Given the description of an element on the screen output the (x, y) to click on. 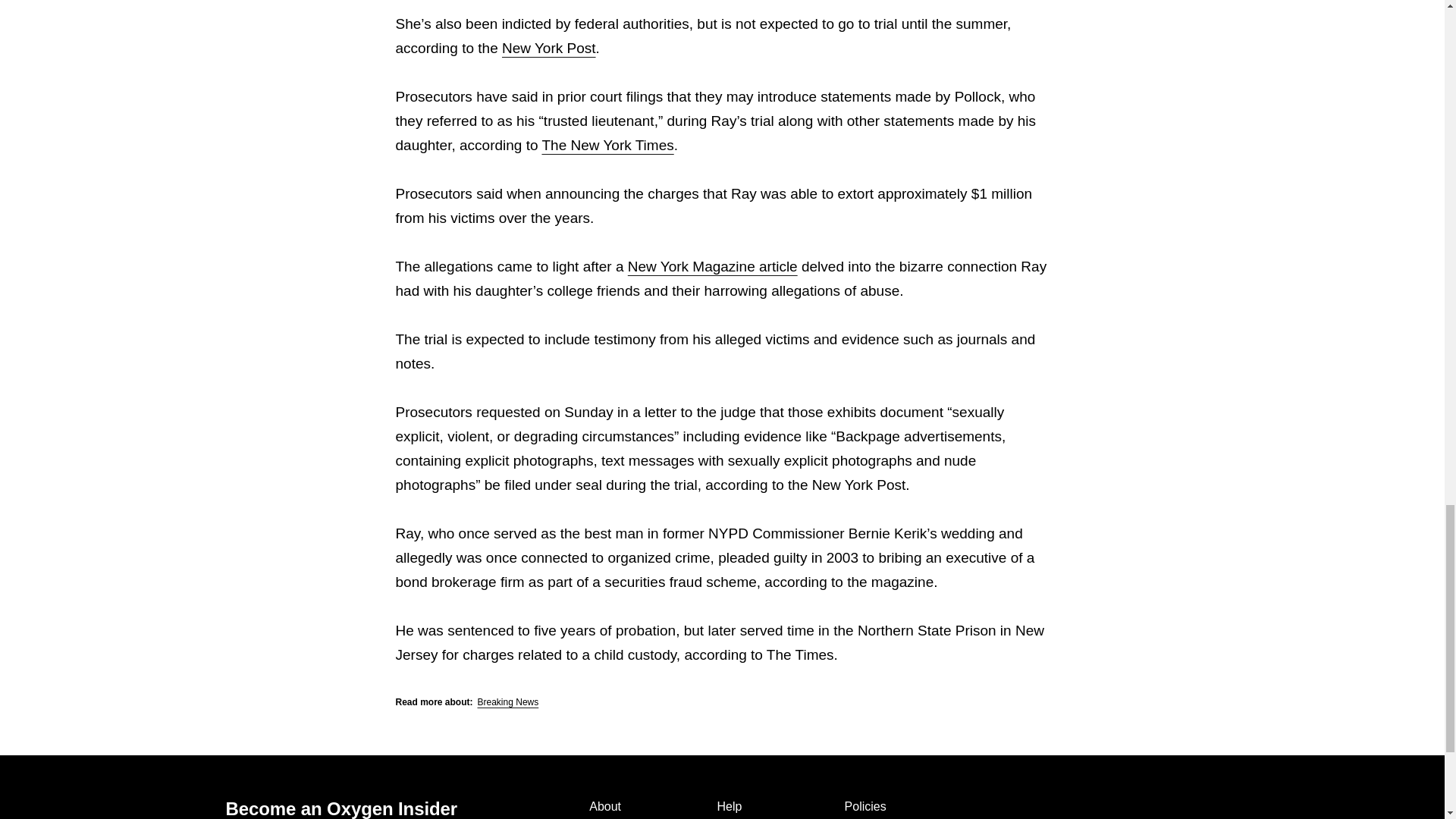
New York Post (548, 48)
New York Magazine article (712, 266)
The New York Times (606, 145)
Breaking News (507, 701)
